Given the description of an element on the screen output the (x, y) to click on. 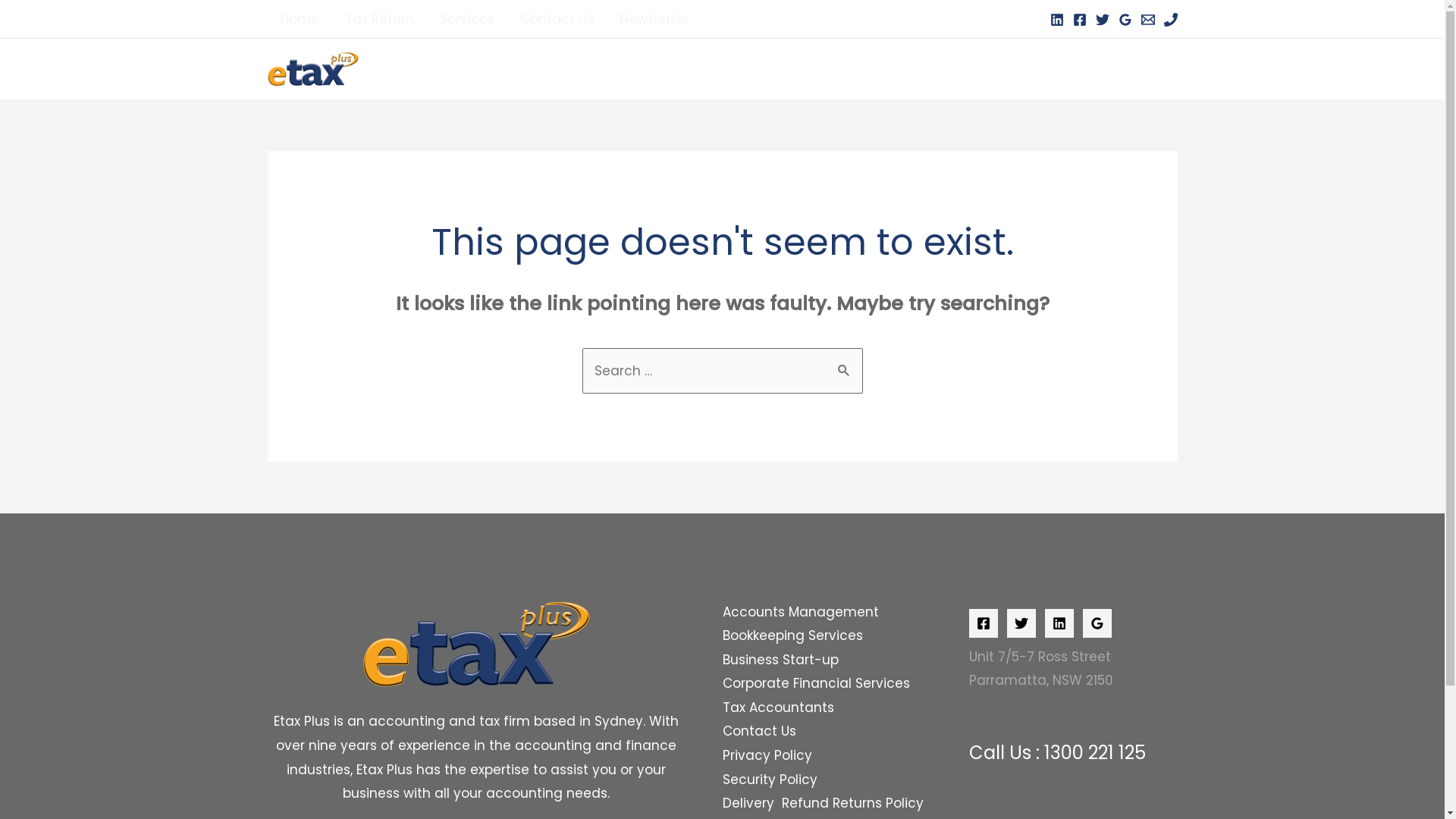
Security Policy Element type: text (768, 780)
Accounts Management Element type: text (799, 612)
Bookkeeping Services Element type: text (791, 636)
Newsletter Element type: text (654, 18)
Corporate Financial Services Element type: text (815, 683)
Delivery  Refund Returns Policy Element type: text (821, 803)
Home Element type: text (298, 18)
Contact Us Element type: text (758, 731)
Search Element type: text (845, 363)
Services Element type: text (466, 18)
Business Start-up Element type: text (779, 660)
Tax Accountants Element type: text (777, 708)
Tax Return Element type: text (379, 18)
Privacy Policy Element type: text (766, 755)
Contact Us Element type: text (555, 18)
